Given the description of an element on the screen output the (x, y) to click on. 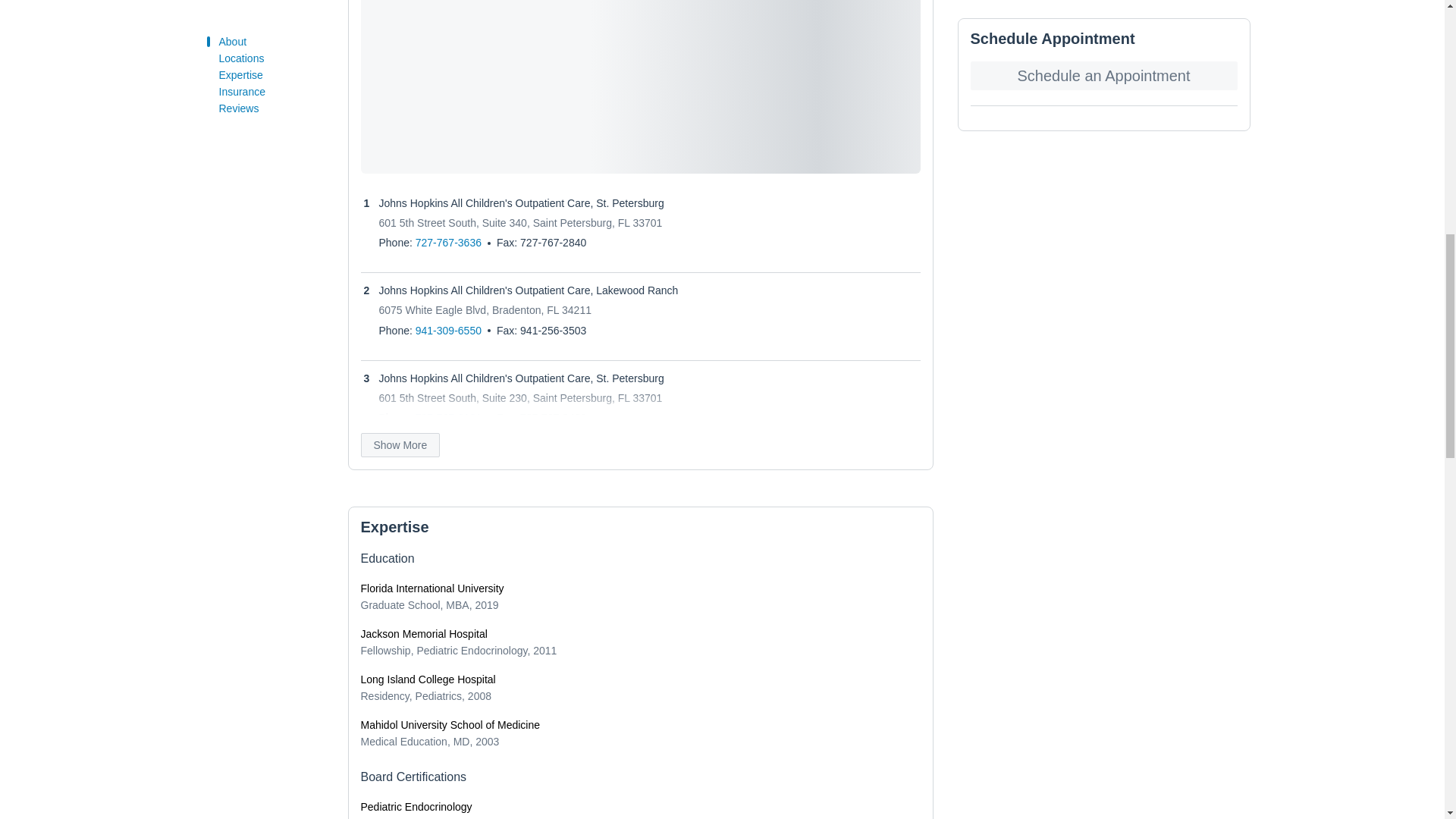
727-767-3636 (447, 242)
Show More (401, 445)
941-309-6550 (447, 330)
727-767-8181 (447, 417)
